Given the description of an element on the screen output the (x, y) to click on. 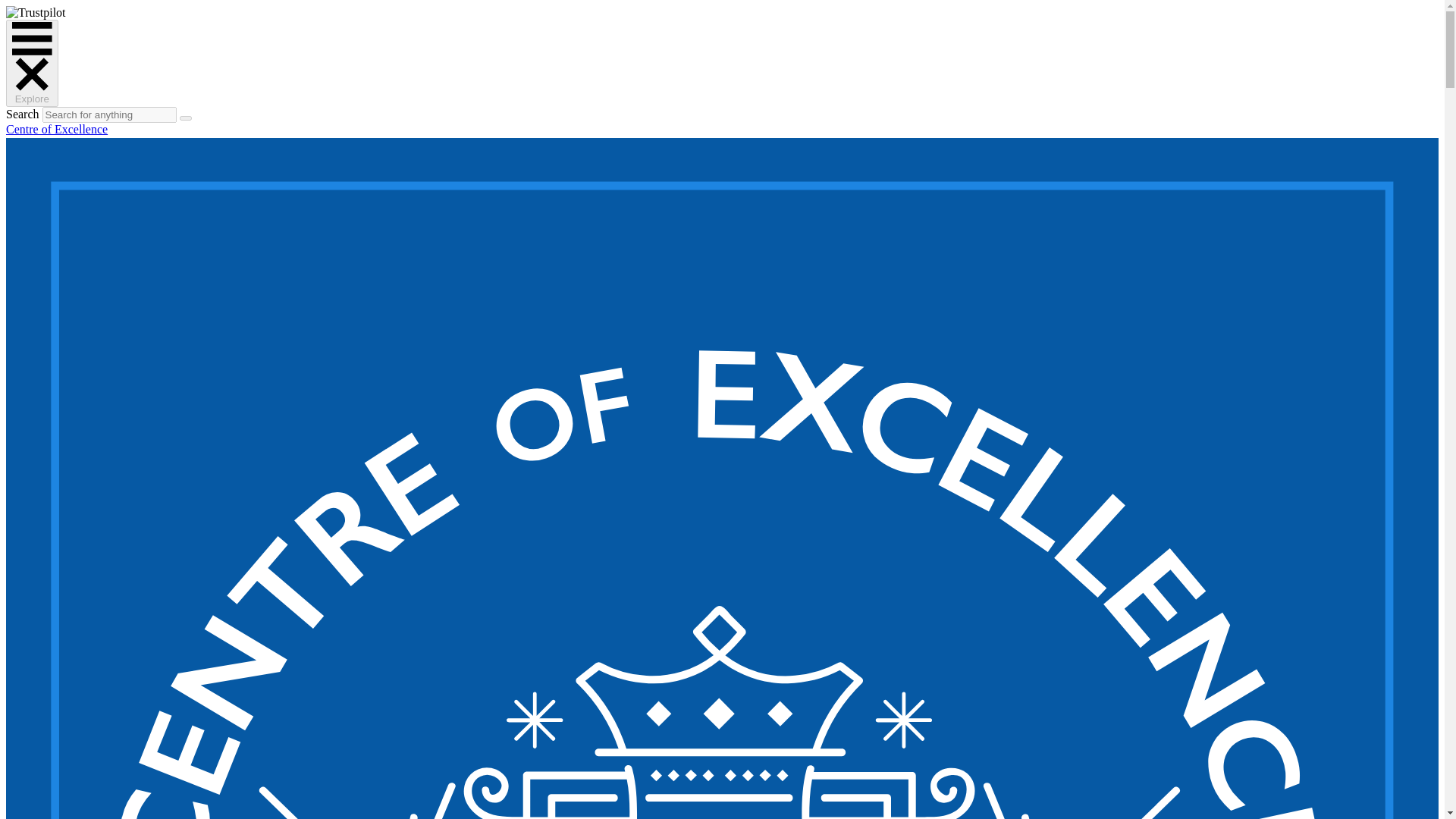
Explore (31, 63)
